Given the description of an element on the screen output the (x, y) to click on. 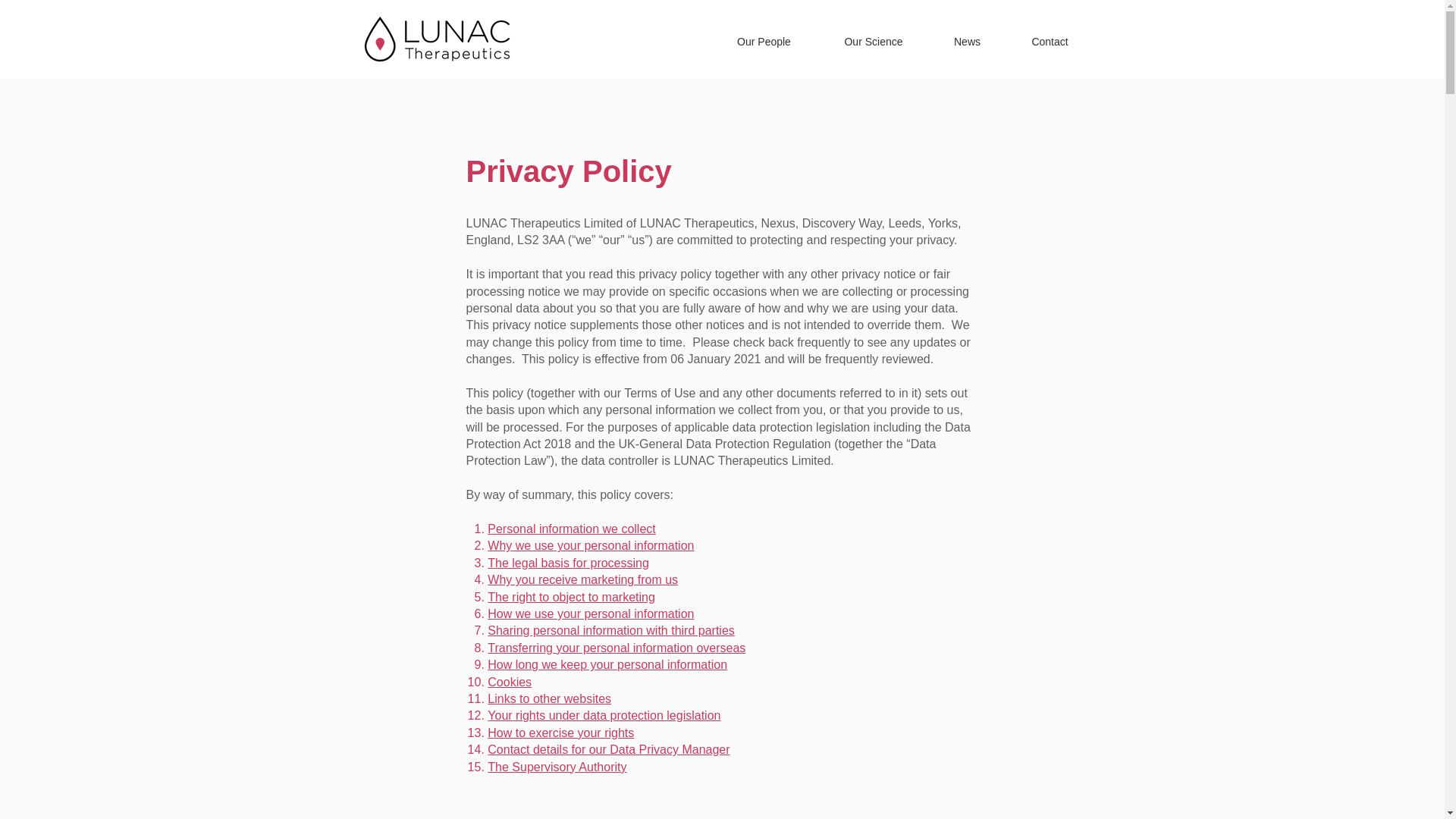
How to exercise your rights (560, 732)
Contact details for our Data Privacy Manager (608, 748)
The right to object to marketing (571, 596)
The legal basis for processing (568, 562)
How we use your personal information (590, 613)
Sharing personal information with third parties (611, 630)
Links to other websites (549, 698)
Cookies (509, 681)
Personal information we collect (571, 528)
Your rights under data protection legislation (603, 715)
News (968, 41)
Contact (1050, 41)
Why you receive marketing from us (582, 579)
Our Science (872, 41)
The Supervisory Authority (556, 766)
